Given the description of an element on the screen output the (x, y) to click on. 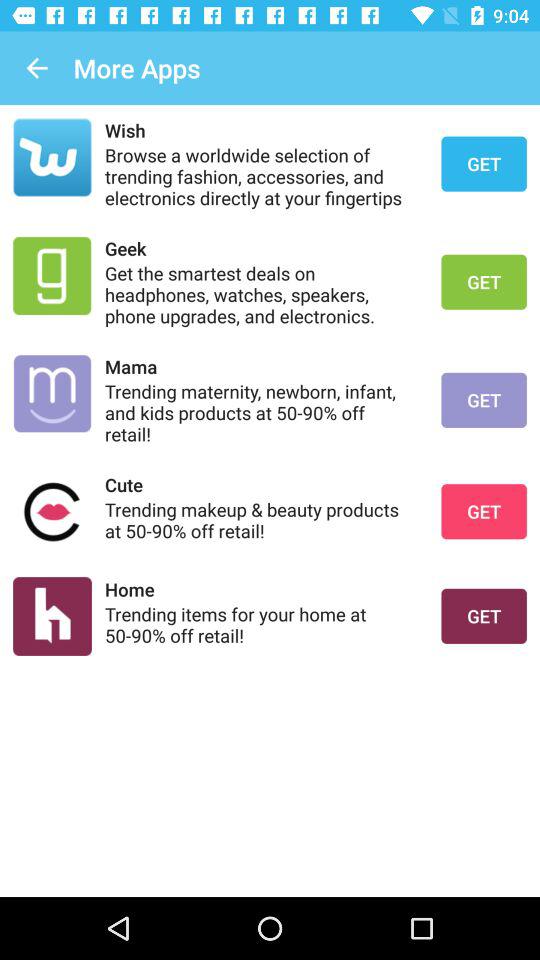
select browse a worldwide icon (260, 176)
